Given the description of an element on the screen output the (x, y) to click on. 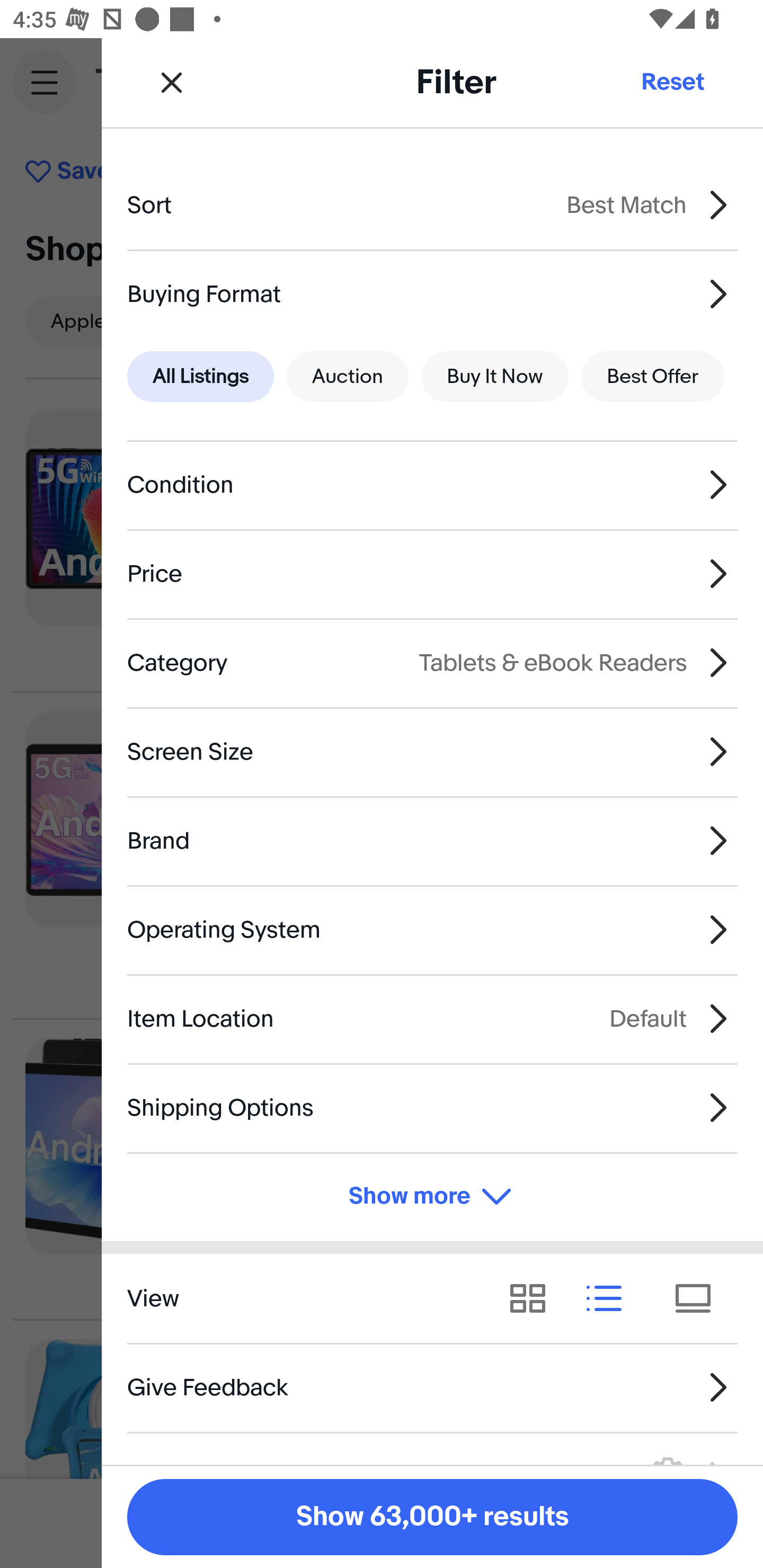
Close Filter (171, 81)
Reset (672, 81)
Buying Format (432, 293)
All Listings (200, 376)
Auction (347, 376)
Buy It Now (494, 376)
Best Offer (652, 376)
Condition (432, 484)
Price (432, 573)
Category Tablets & eBook Readers (432, 662)
Screen Size (432, 751)
Brand (432, 840)
Operating System (432, 929)
Item Location Default (432, 1018)
Shipping Options (432, 1107)
Show more (432, 1196)
View results as grid (533, 1297)
View results as list (610, 1297)
View results as tiles (699, 1297)
